Given the description of an element on the screen output the (x, y) to click on. 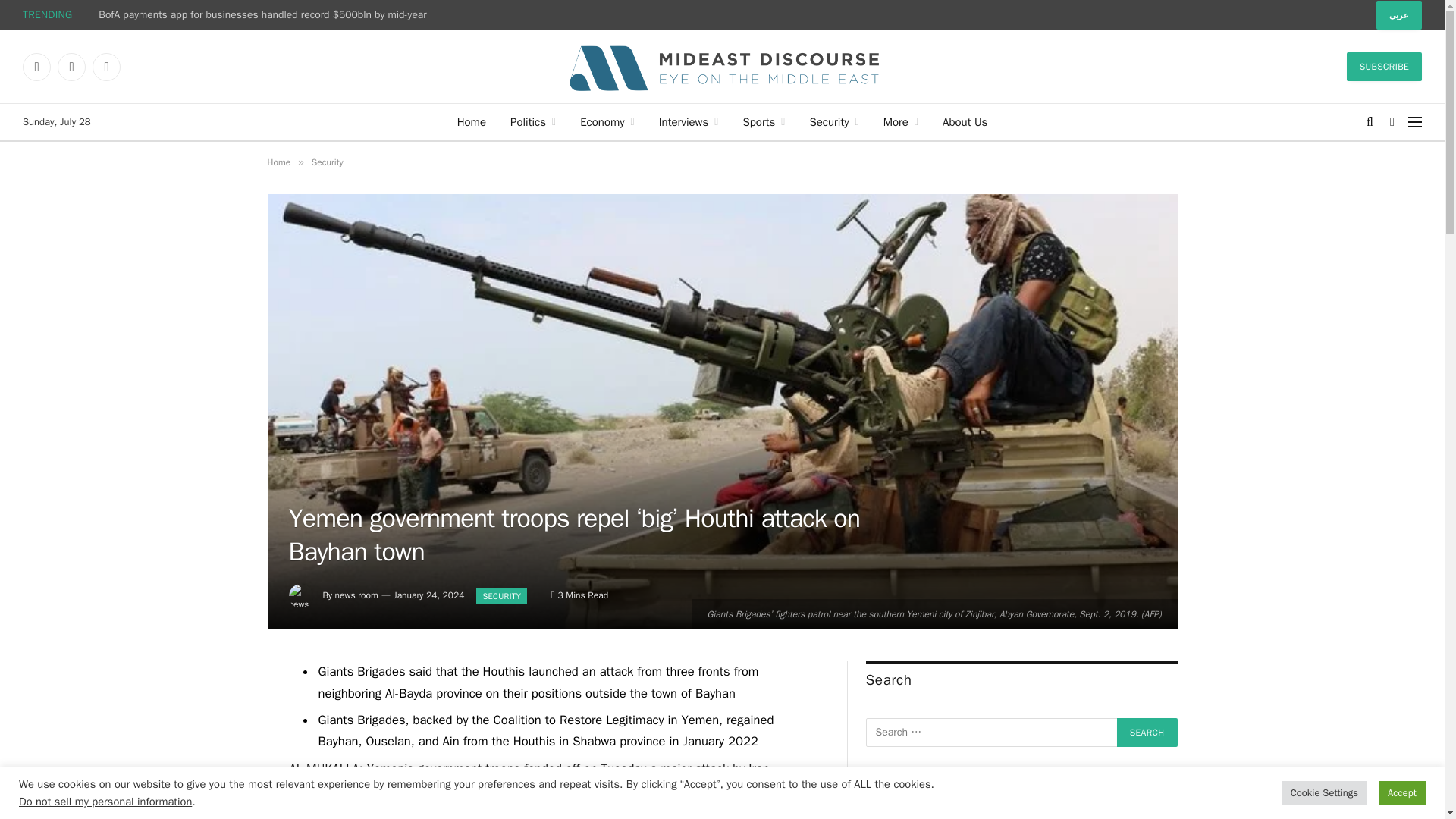
Home (471, 122)
Politics (532, 122)
Economy (606, 122)
Instagram (106, 67)
Facebook (36, 67)
Search (1146, 732)
Search (1146, 732)
Mideast Discourse (722, 66)
SUBSCRIBE (1384, 66)
